Given the description of an element on the screen output the (x, y) to click on. 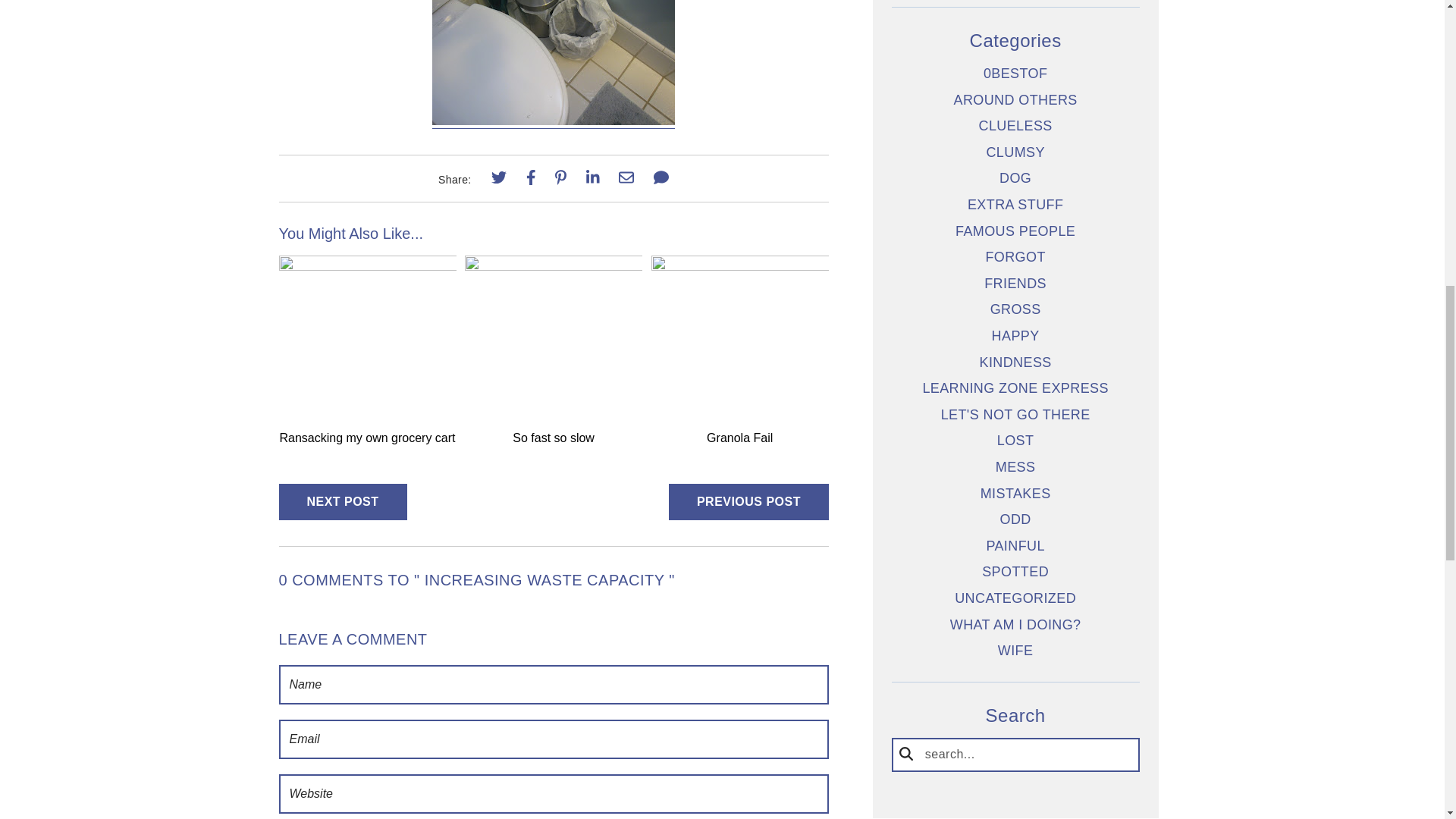
Ransacking my own grocery cart (368, 265)
Search... (1015, 754)
Granola Fail (739, 437)
So fast so slow (553, 437)
Search... (1015, 754)
So fast so slow (553, 265)
Ransacking my own grocery cart (366, 437)
Granola Fail (739, 265)
